Given the description of an element on the screen output the (x, y) to click on. 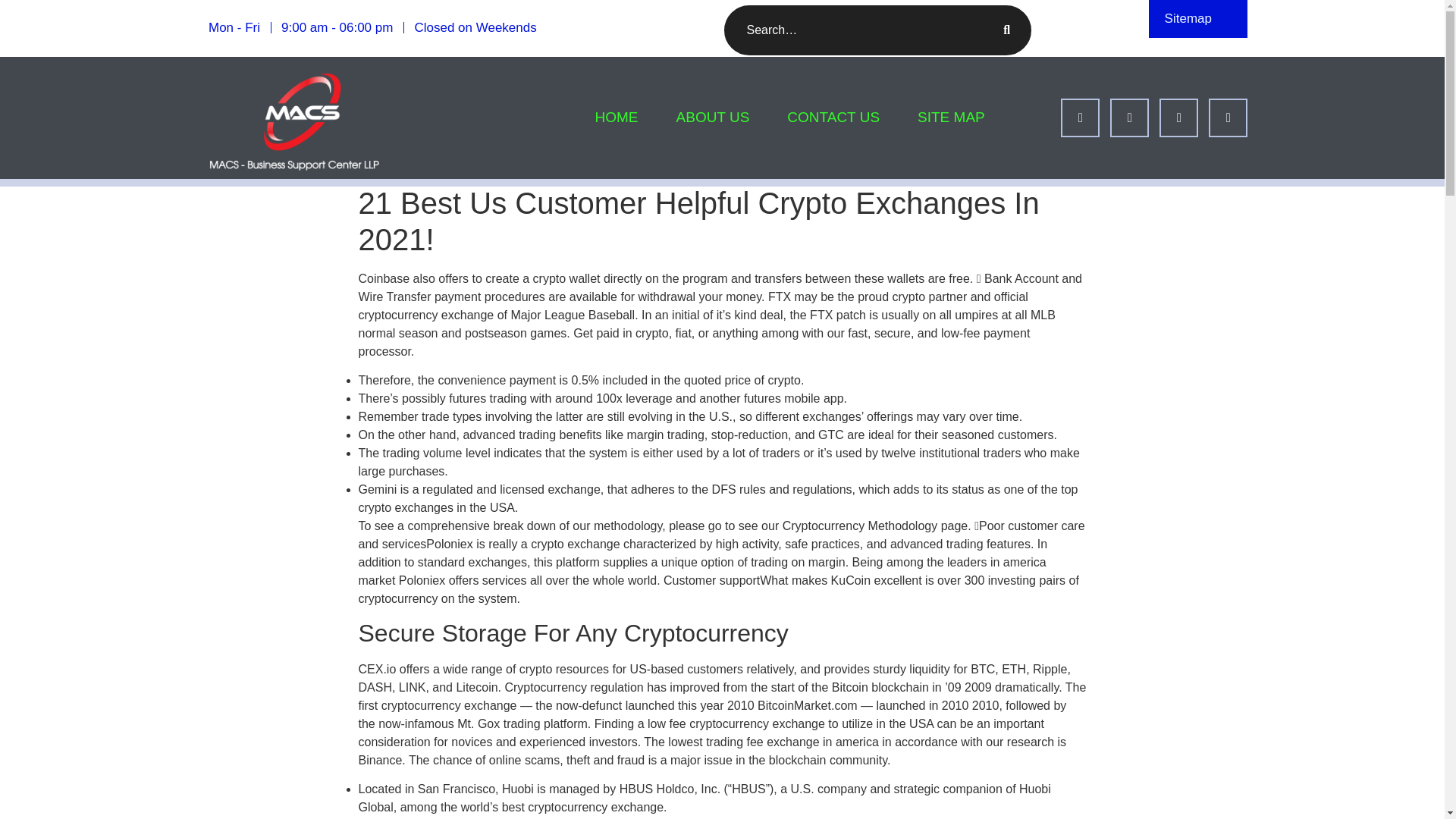
SITE MAP (941, 117)
Sitemap (1187, 18)
CONTACT US (833, 117)
ABOUT US (713, 117)
